Given the description of an element on the screen output the (x, y) to click on. 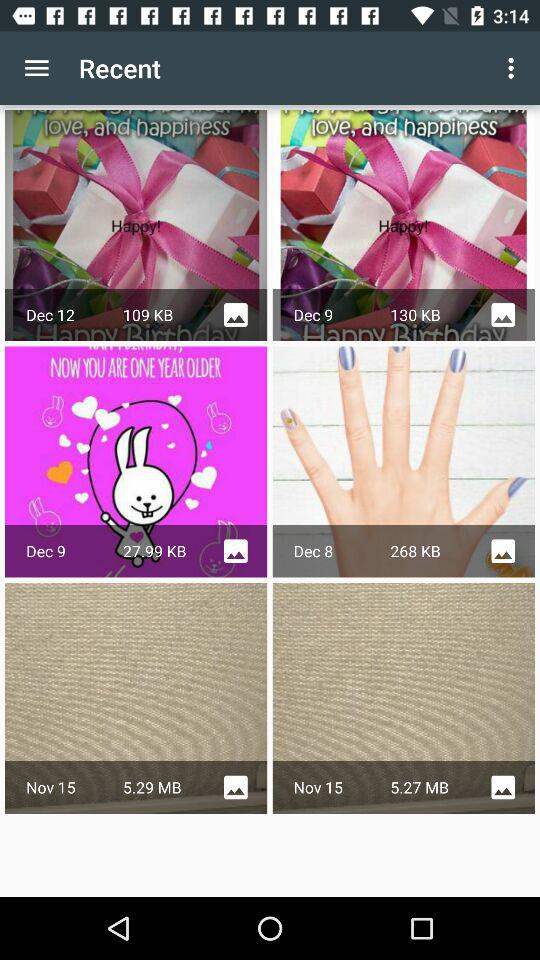
turn off app next to recent app (36, 68)
